Given the description of an element on the screen output the (x, y) to click on. 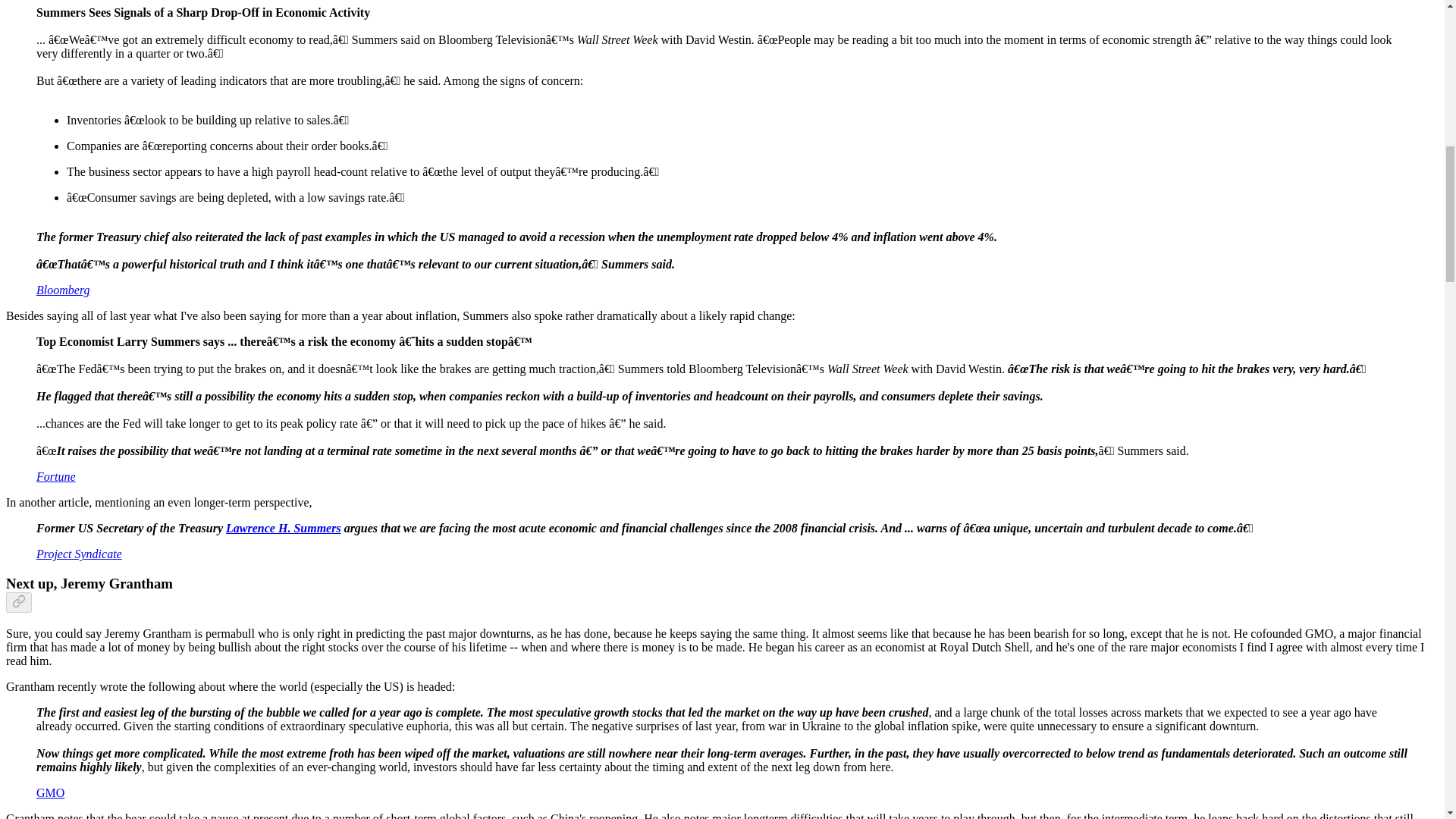
Bloomberg (63, 289)
GMO (50, 792)
Lawrence H. Summers (282, 527)
Fortune (55, 476)
Project Syndicate (79, 553)
